Given the description of an element on the screen output the (x, y) to click on. 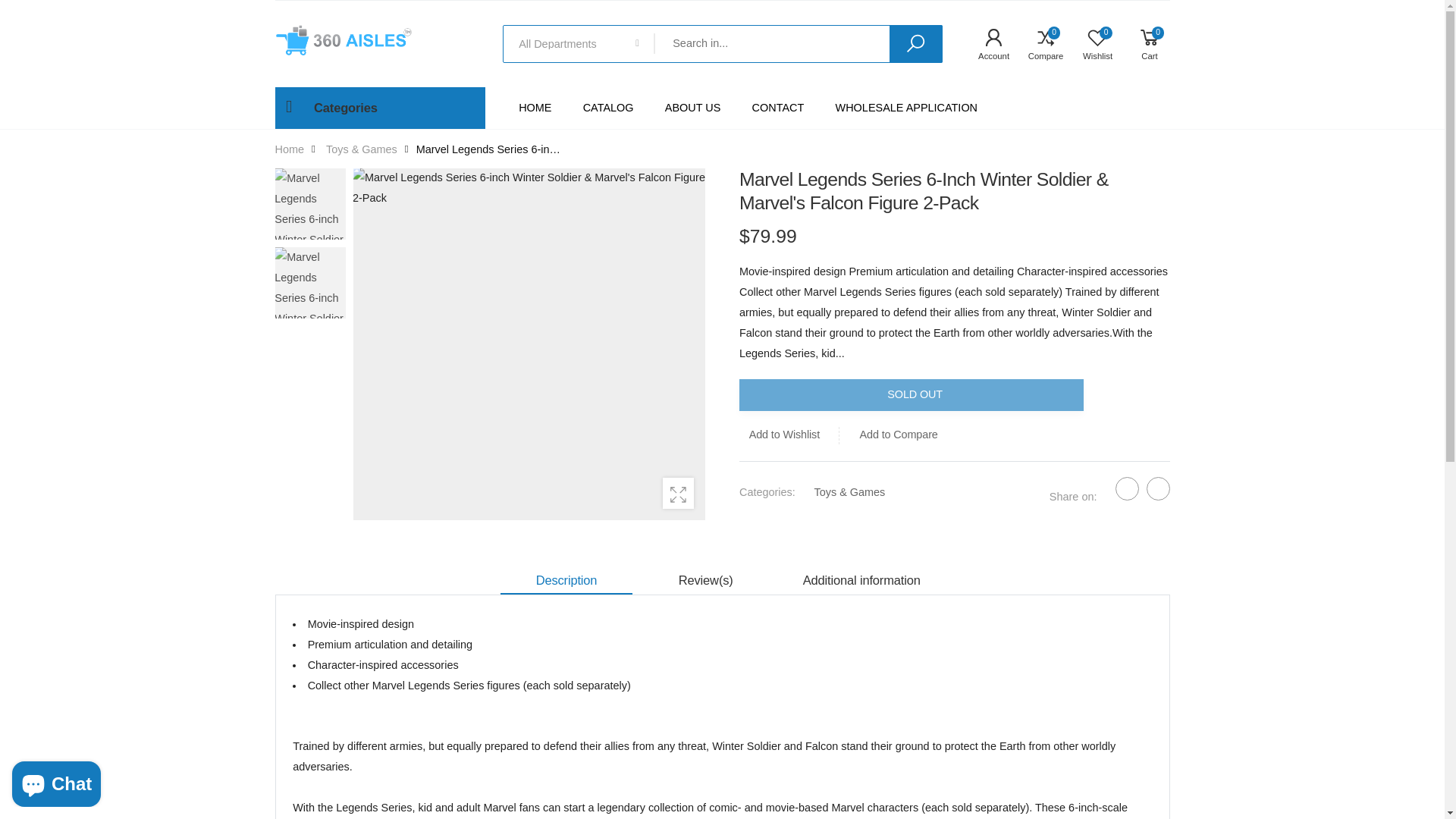
Review(s) Element type: text (705, 580)
0
Wishlist Element type: text (1091, 43)
CATALOG Element type: text (608, 108)
Home Element type: text (289, 149)
CONTACT Element type: text (778, 108)
Categories Element type: text (379, 108)
WHOLESALE APPLICATION Element type: text (906, 108)
Toys & Games Element type: text (361, 149)
Additional information Element type: text (861, 580)
Account Element type: text (987, 43)
View large images in your viewport Element type: hover (677, 492)
0
Cart Element type: text (1143, 43)
SOLD OUT Element type: text (910, 395)
HOME Element type: text (534, 108)
ABOUT US Element type: text (693, 108)
Description Element type: text (565, 580)
Toys & Games Element type: text (848, 492)
Shopify online store chat Element type: hover (56, 780)
